Given the description of an element on the screen output the (x, y) to click on. 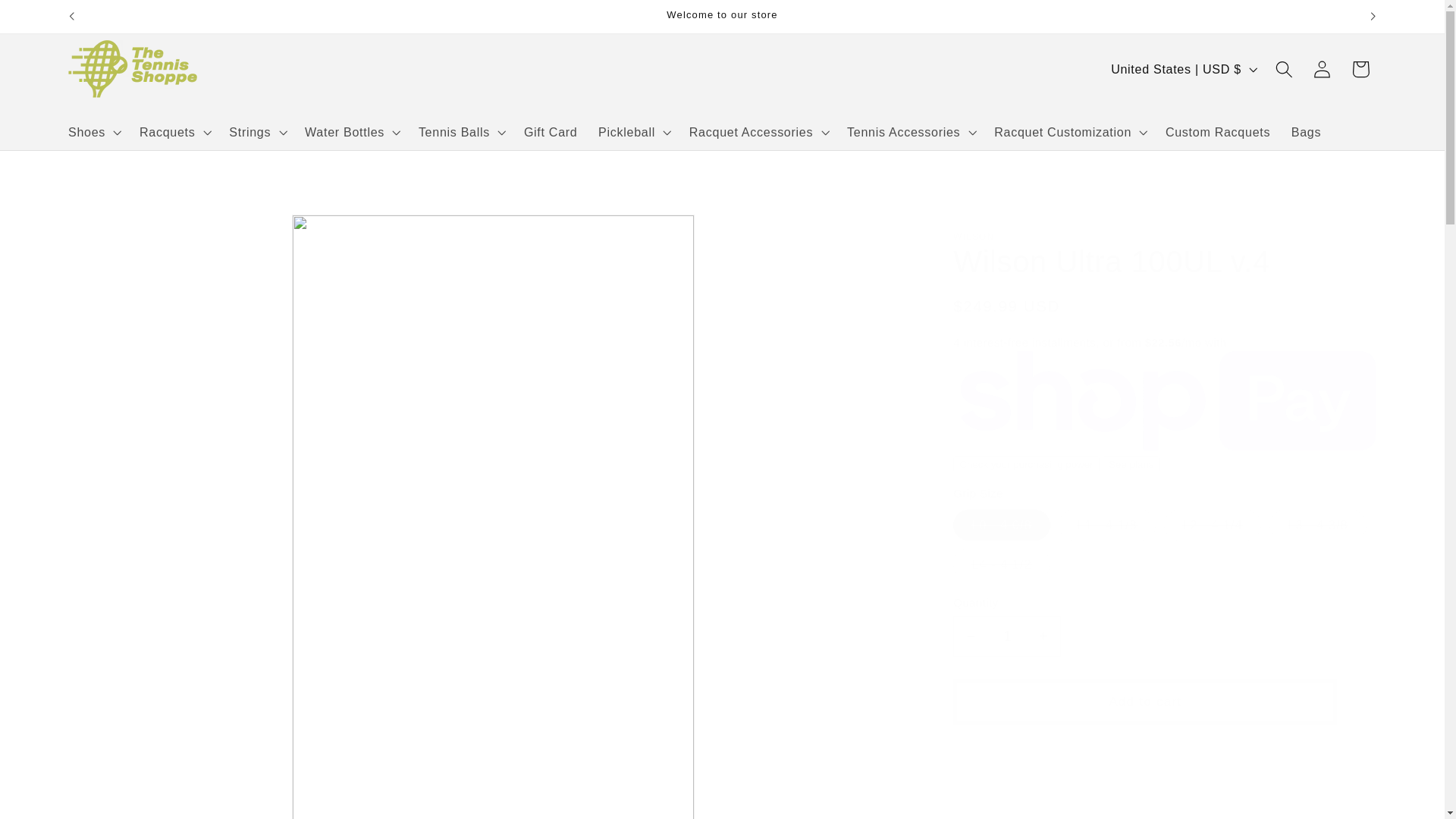
Skip to content (56, 22)
1 (1007, 635)
